Given the description of an element on the screen output the (x, y) to click on. 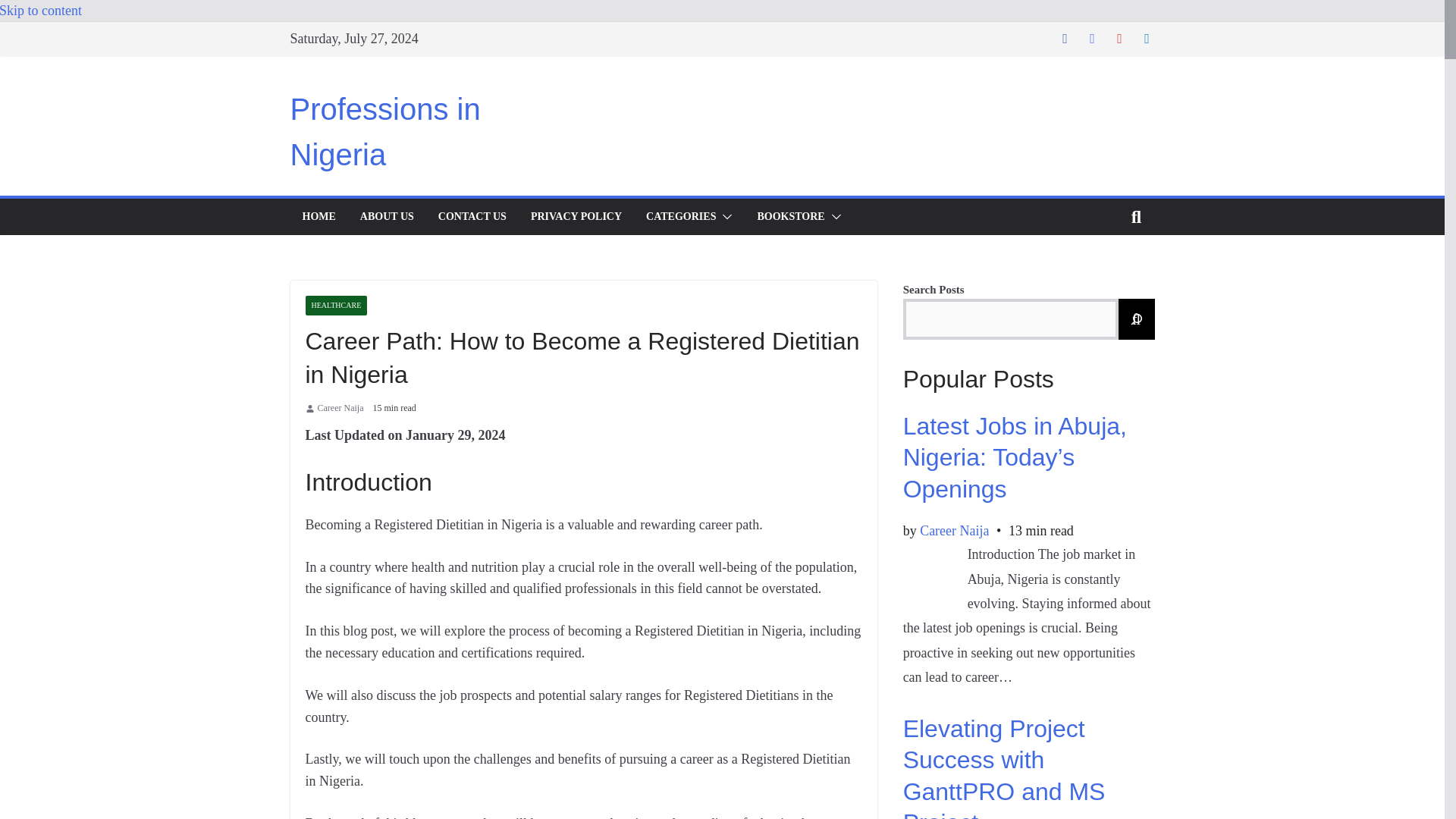
ABOUT US (386, 216)
HOME (317, 216)
Career Naija (339, 408)
PRIVACY POLICY (576, 216)
CATEGORIES (681, 216)
BOOKSTORE (790, 216)
CONTACT US (472, 216)
Professions in Nigeria (384, 131)
Facebook (1064, 38)
Pinterest (1119, 38)
LinkedIn (1146, 38)
Twitter (1091, 38)
Skip to content (40, 10)
Professions in Nigeria (384, 131)
